Given the description of an element on the screen output the (x, y) to click on. 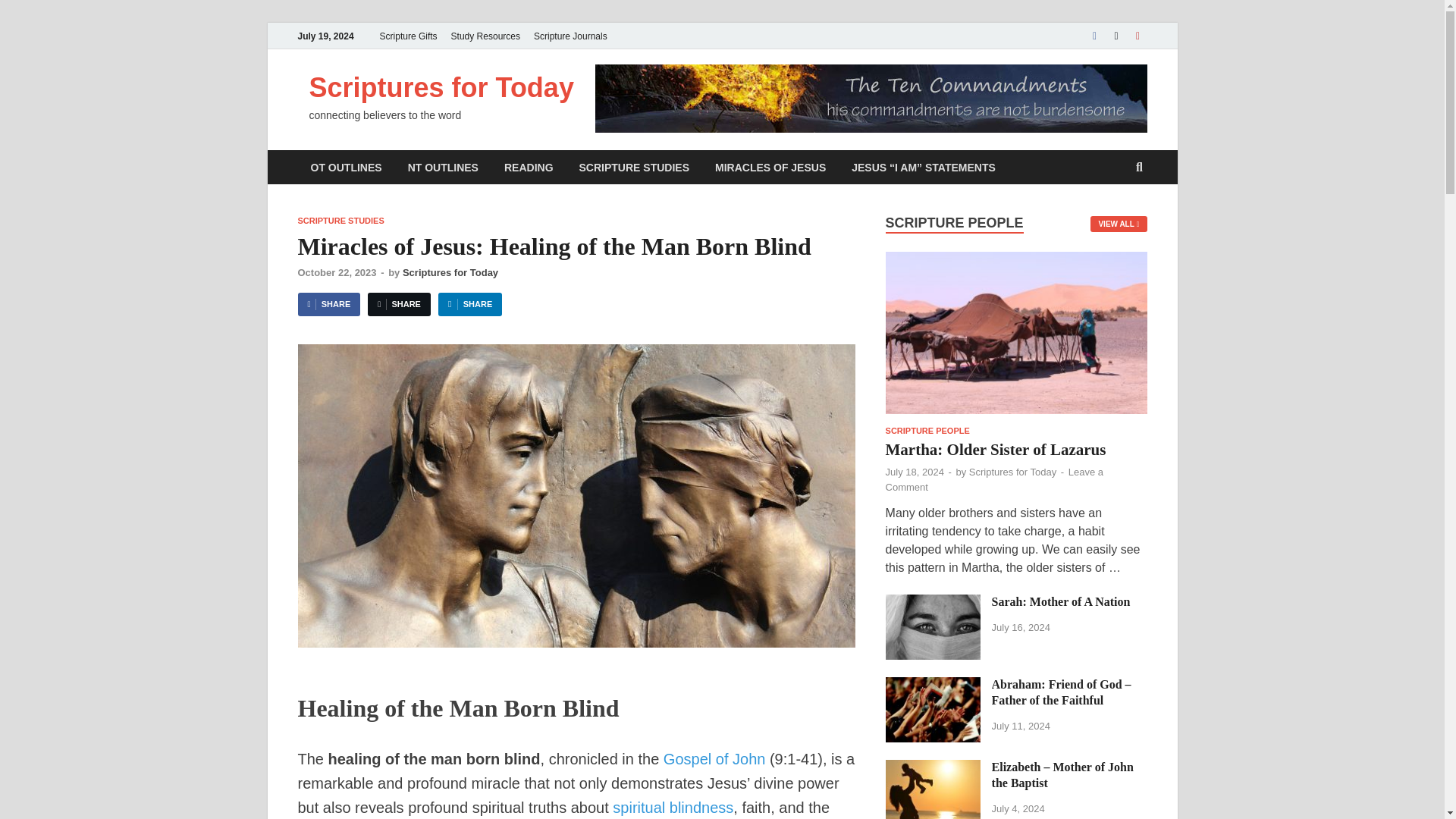
Study Resources (485, 35)
Scriptures for Today (450, 272)
MIRACLES OF JESUS (769, 166)
READING (529, 166)
NT OUTLINES (443, 166)
SHARE (399, 304)
Miracles of Jesus (769, 166)
spiritual blindness (672, 807)
OT OUTLINES (345, 166)
October 22, 2023 (336, 272)
Scripture Journals (570, 35)
Reading (529, 166)
Scriptures for Today (440, 87)
Scriptures for Today (440, 87)
Study Resources (485, 35)
